Given the description of an element on the screen output the (x, y) to click on. 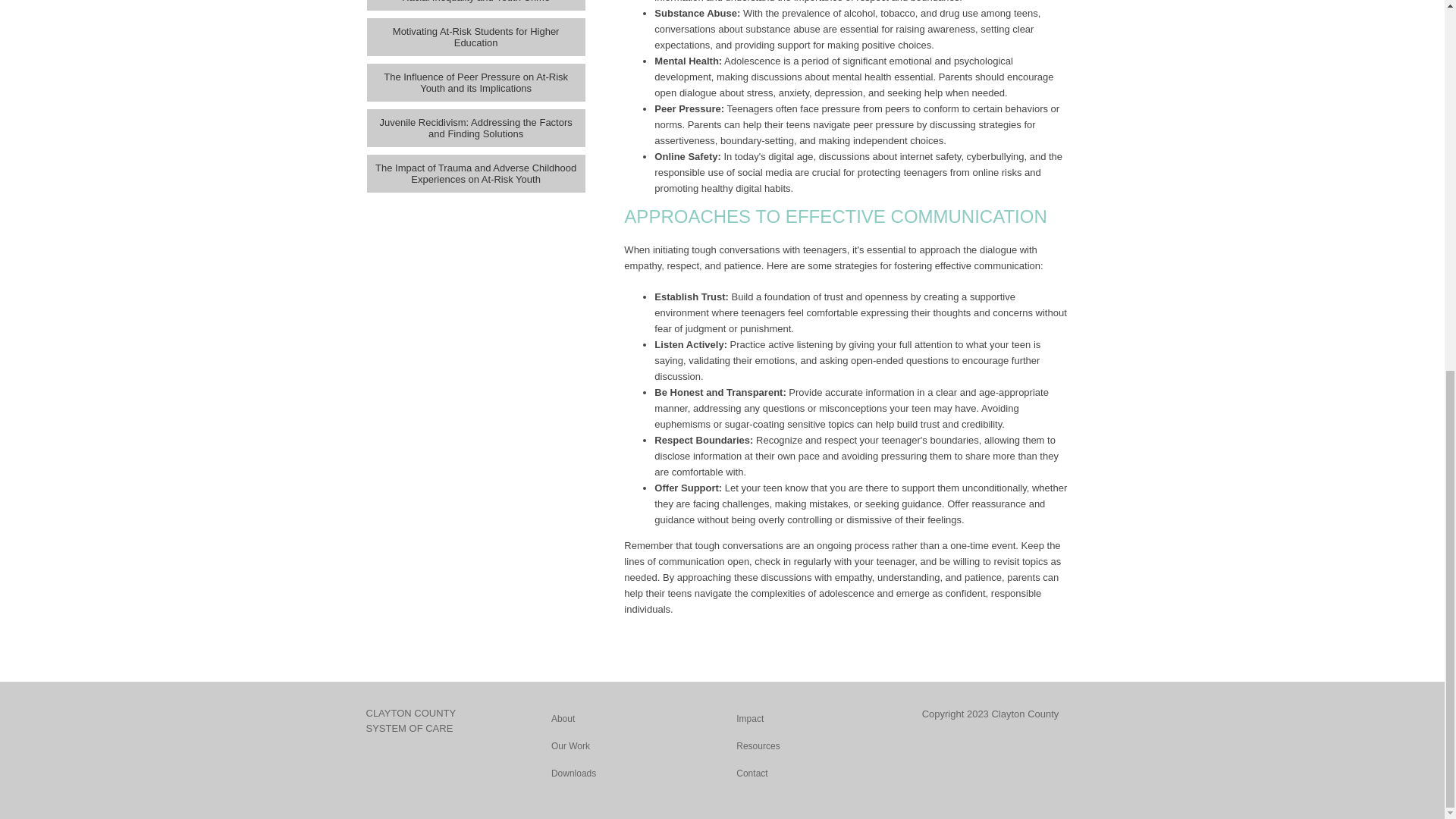
Motivating At-Risk Students for Higher Education (475, 37)
Racial Inequality and Youth Crime (475, 5)
